Given the description of an element on the screen output the (x, y) to click on. 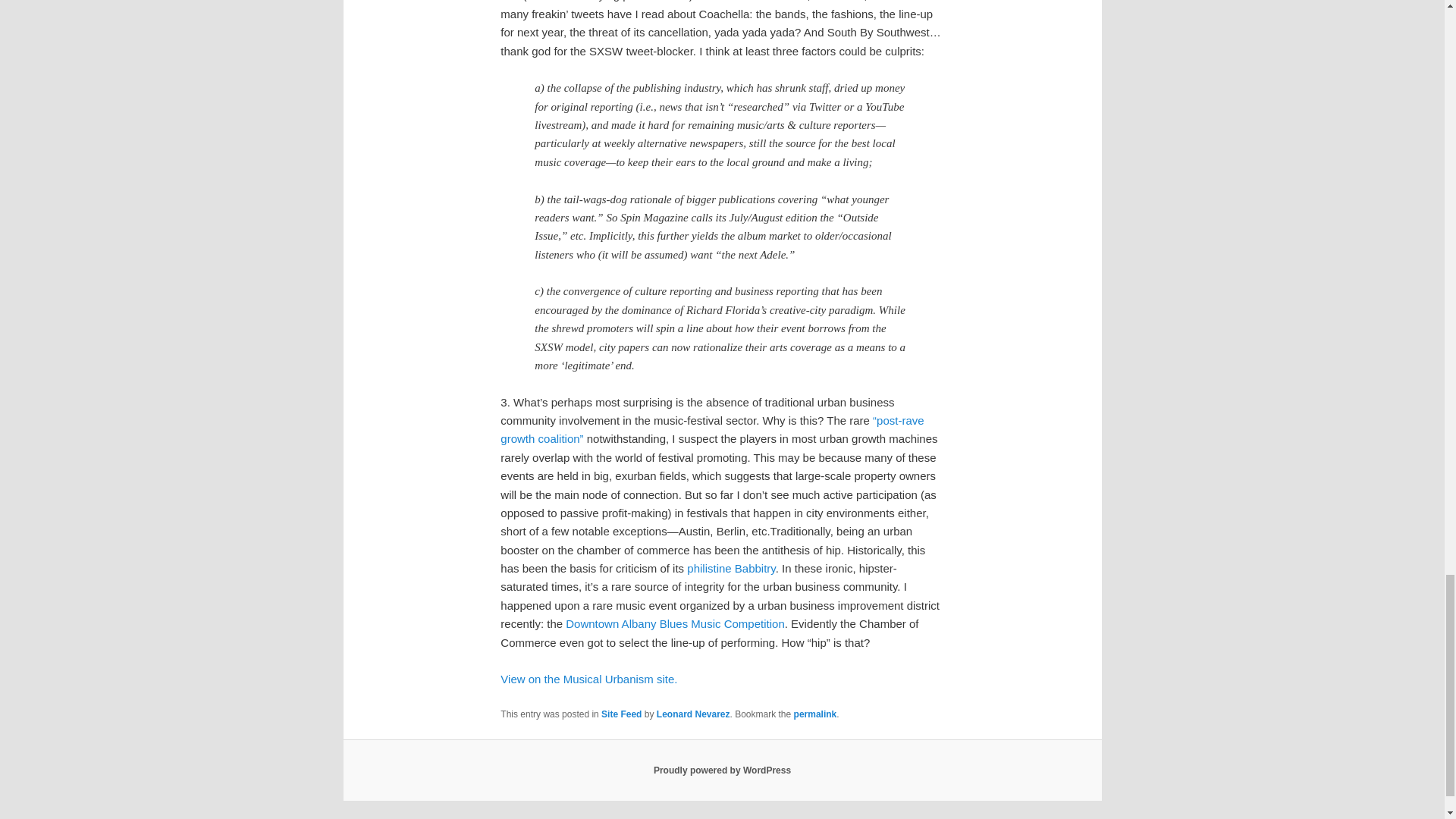
Semantic Personal Publishing Platform (721, 769)
permalink (815, 714)
philistine Babbitry (730, 567)
Downtown Albany Blues Music Competition (675, 623)
Proudly powered by WordPress (721, 769)
Leonard Nevarez (693, 714)
Site Feed (621, 714)
View on the Musical Urbanism site. (588, 678)
Permalink to The Dull Ubiquity of Placeless Music Festivals (815, 714)
